Given the description of an element on the screen output the (x, y) to click on. 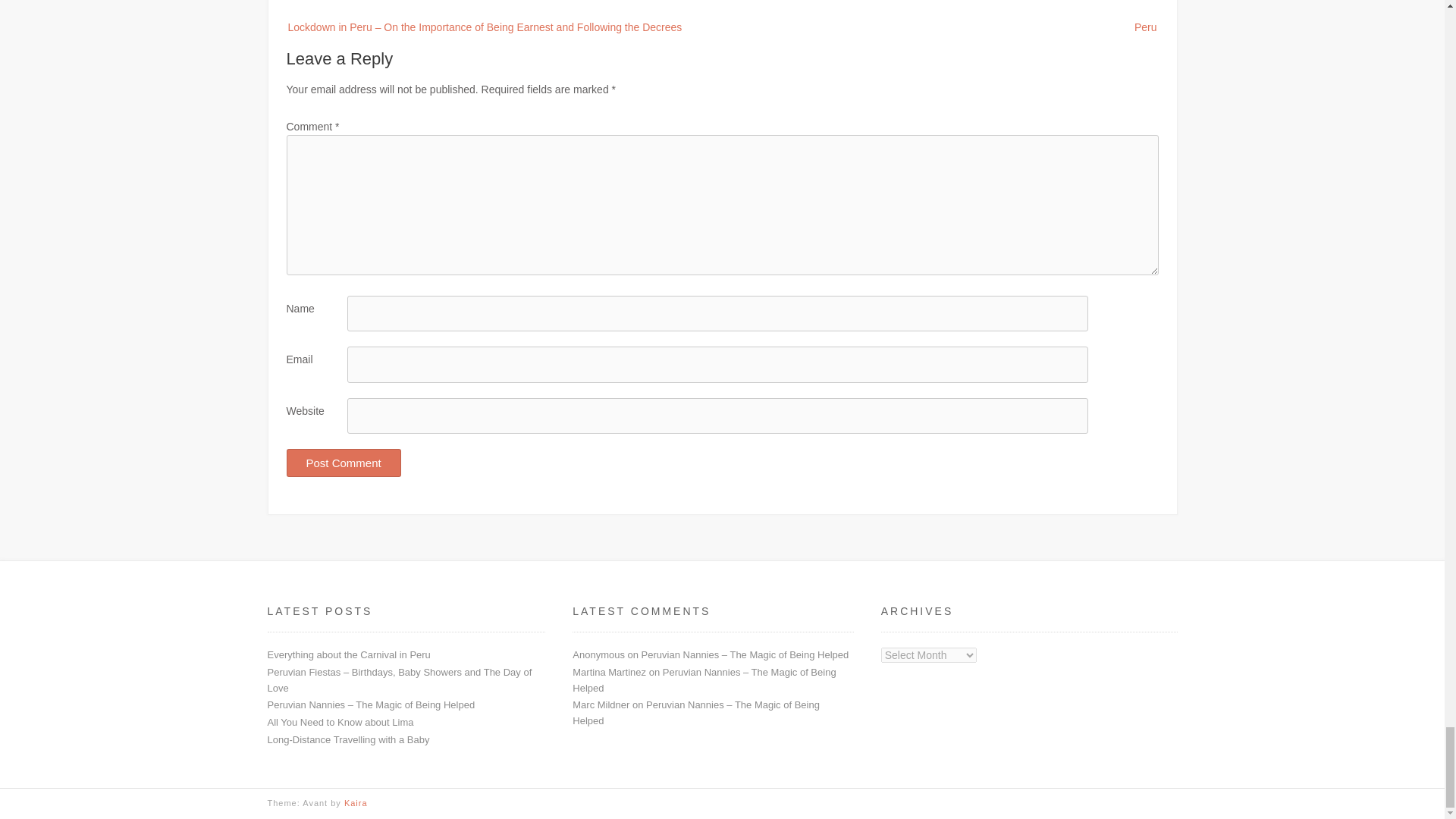
Post Comment (343, 462)
